Given the description of an element on the screen output the (x, y) to click on. 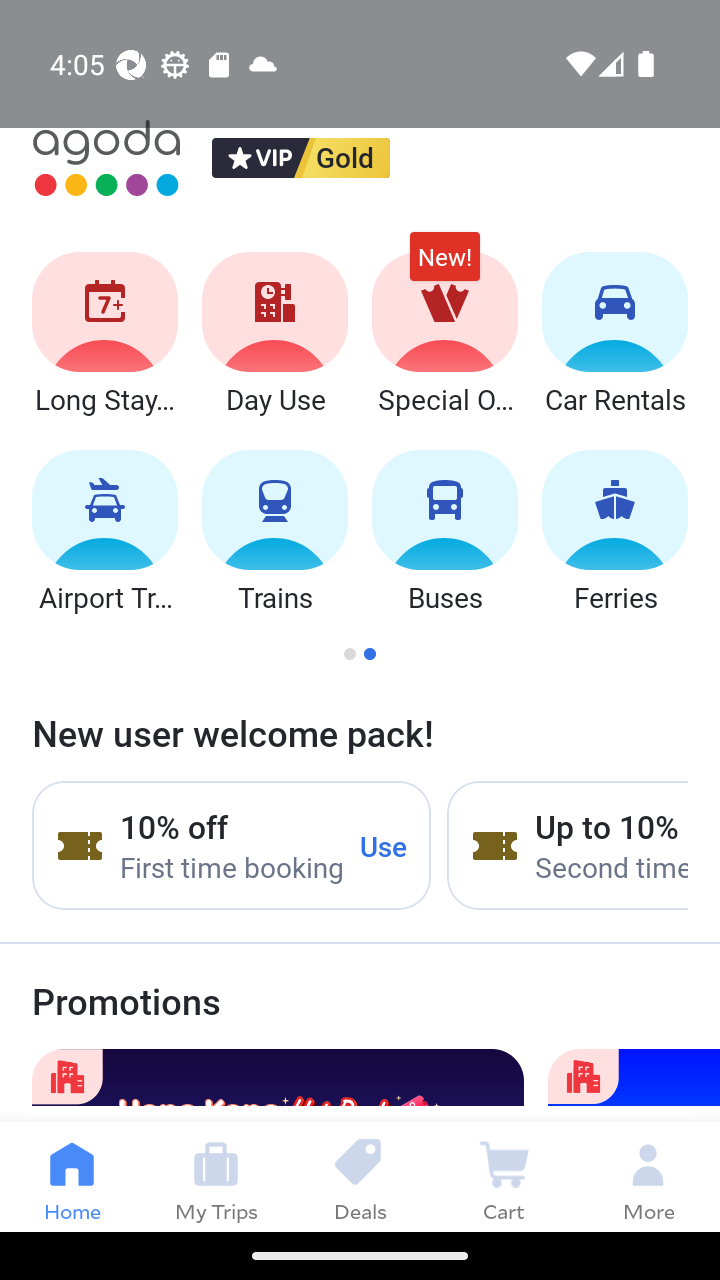
New! (444, 265)
Use (384, 845)
Home (72, 1176)
My Trips (216, 1176)
Deals (360, 1176)
Cart (504, 1176)
More (648, 1176)
